Given the description of an element on the screen output the (x, y) to click on. 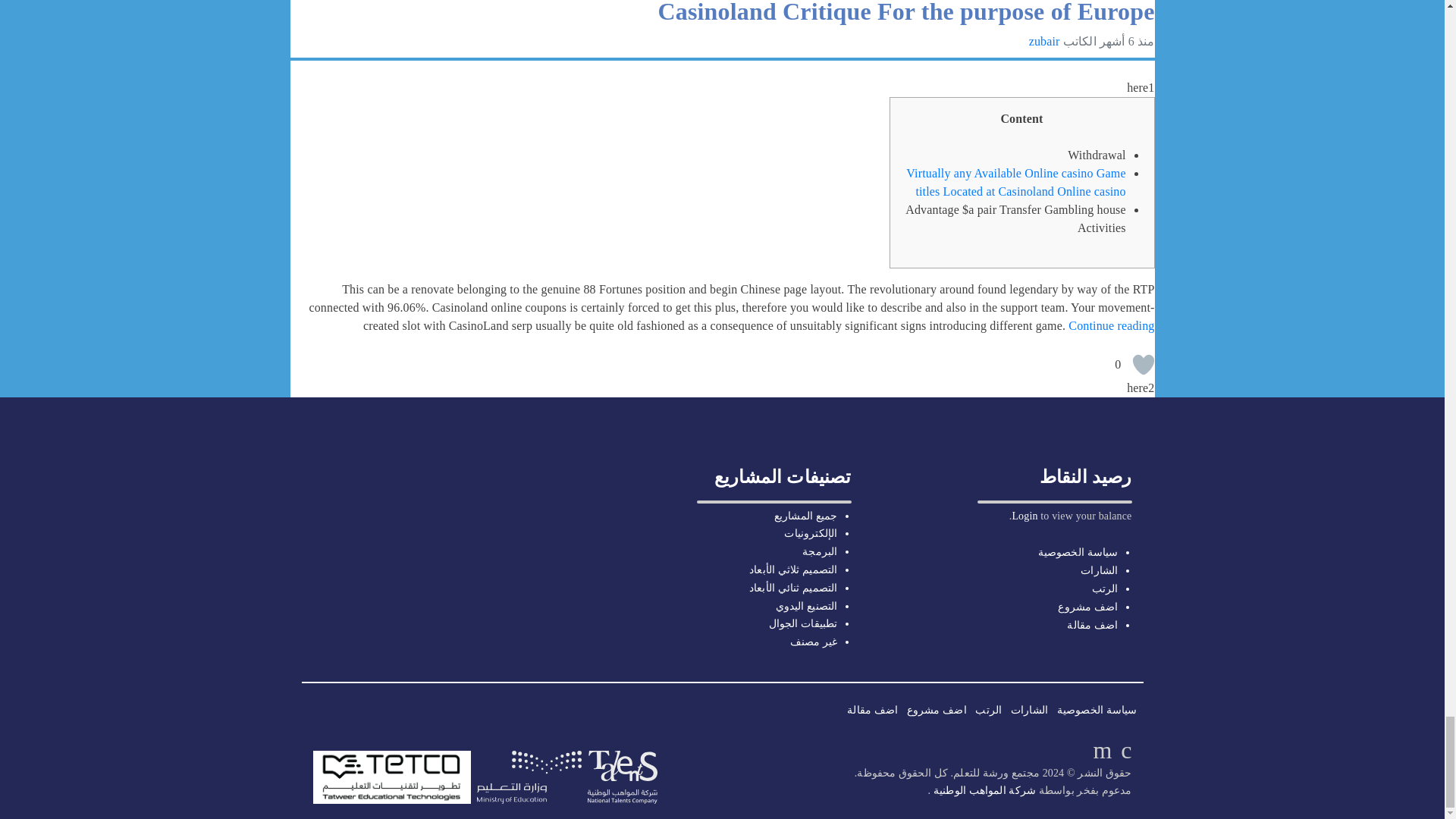
Casinoland Critique For the purpose of Europe (906, 12)
Login (1023, 516)
zubair (1044, 41)
